Given the description of an element on the screen output the (x, y) to click on. 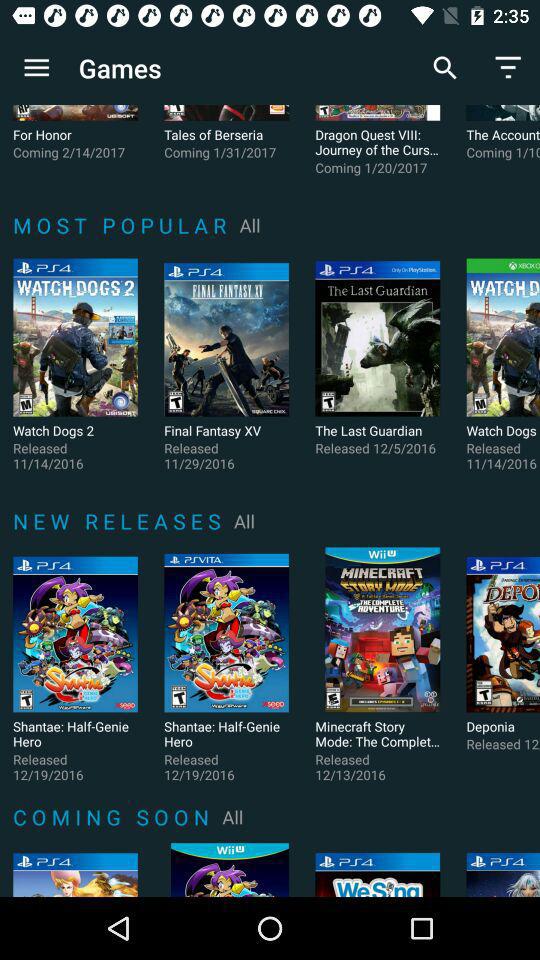
choose icon to the left of the all item (120, 520)
